Given the description of an element on the screen output the (x, y) to click on. 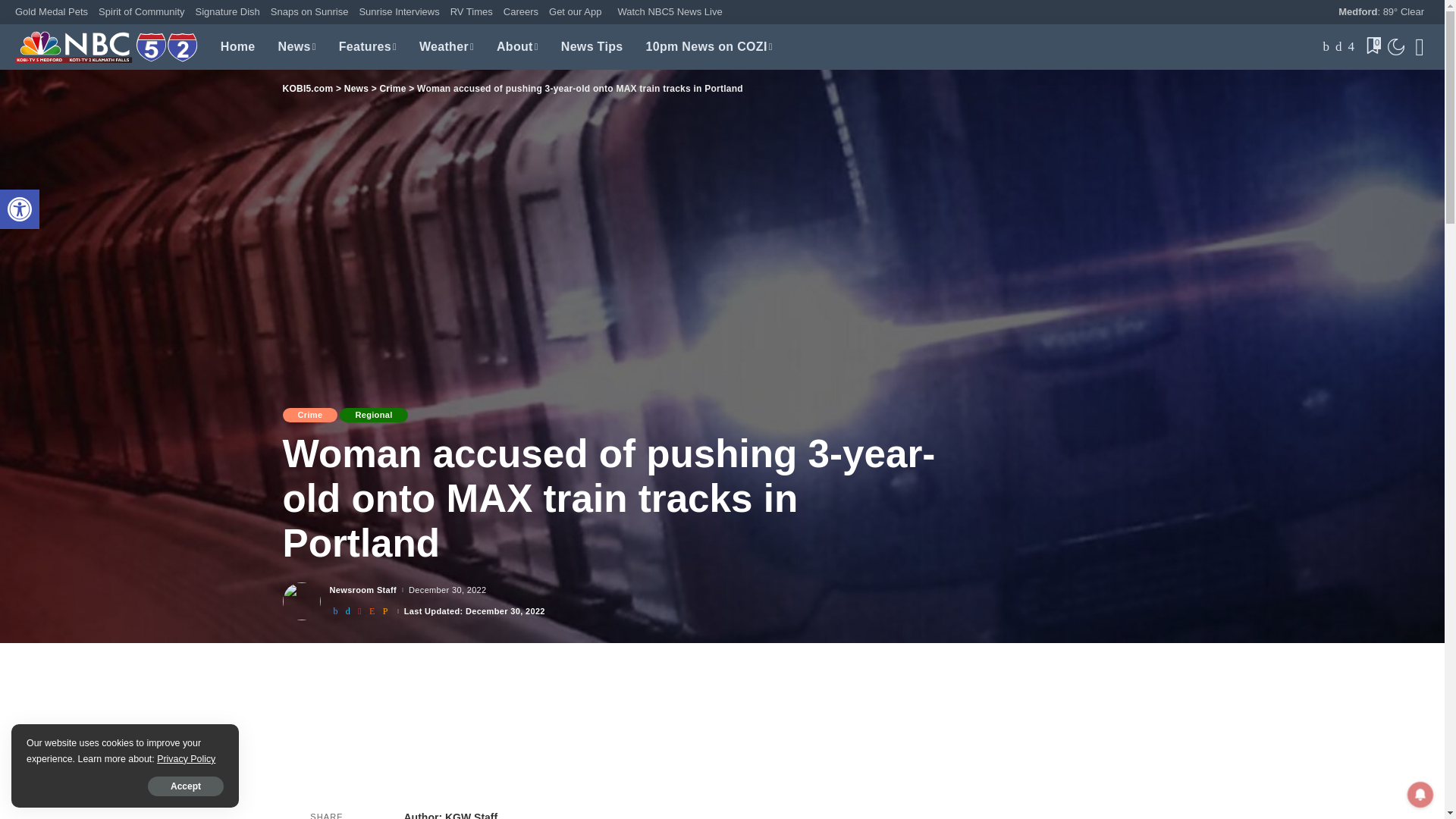
Accessibility Tools (19, 209)
2022-12-30T13:10:24-08:00 (447, 589)
Go to the Crime category archives. (392, 88)
Go to the News category archives. (355, 88)
Accessibility Tools (19, 209)
